Given the description of an element on the screen output the (x, y) to click on. 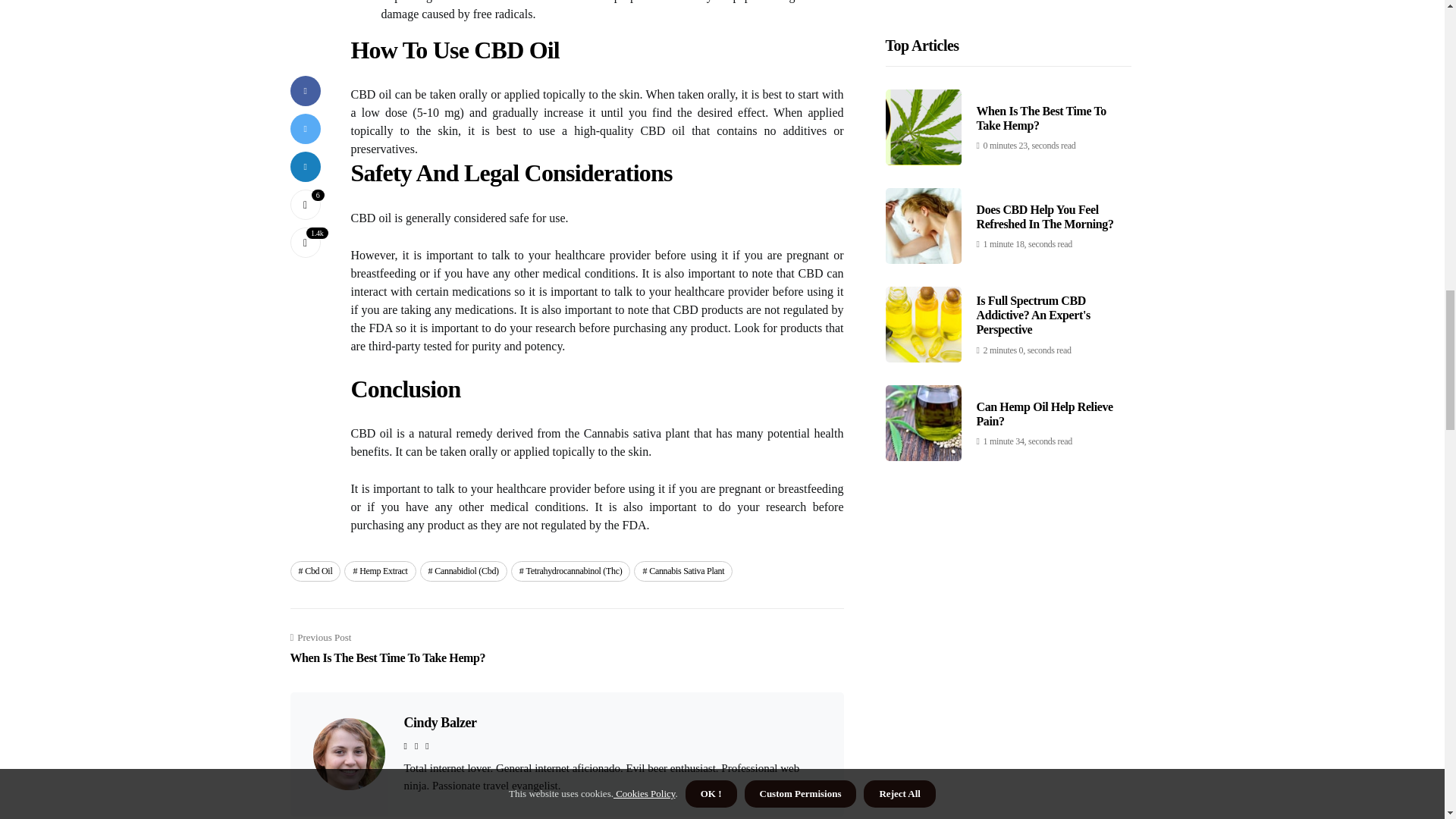
Cannabis Sativa Plant (682, 570)
Cindy Balzer (386, 648)
Cbd Oil (439, 722)
Hemp Extract (314, 570)
